Given the description of an element on the screen output the (x, y) to click on. 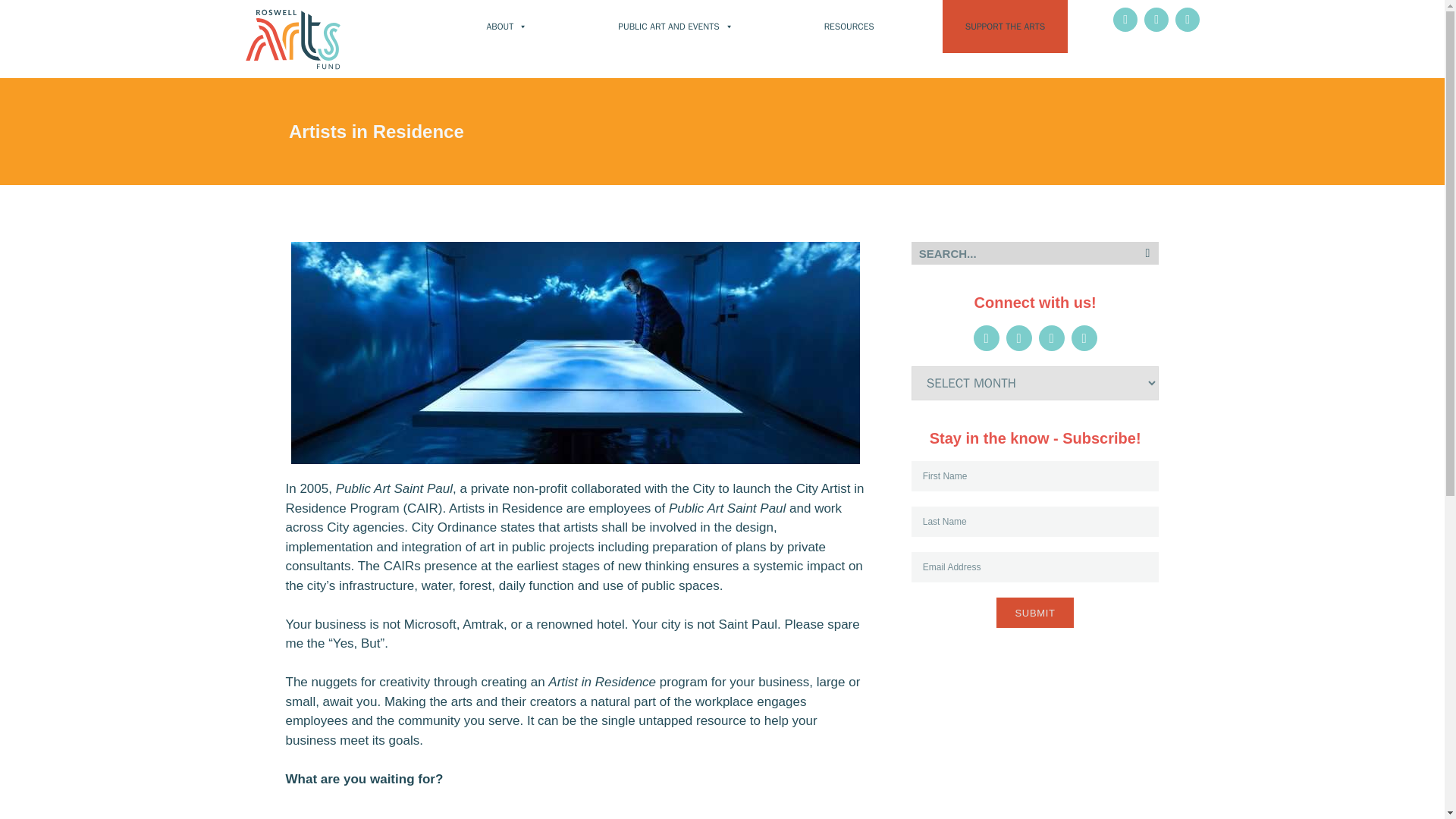
PUBLIC ART AND EVENTS (675, 26)
SUPPORT THE ARTS (1004, 26)
RESOURCES (849, 26)
ABOUT (507, 26)
